Given the description of an element on the screen output the (x, y) to click on. 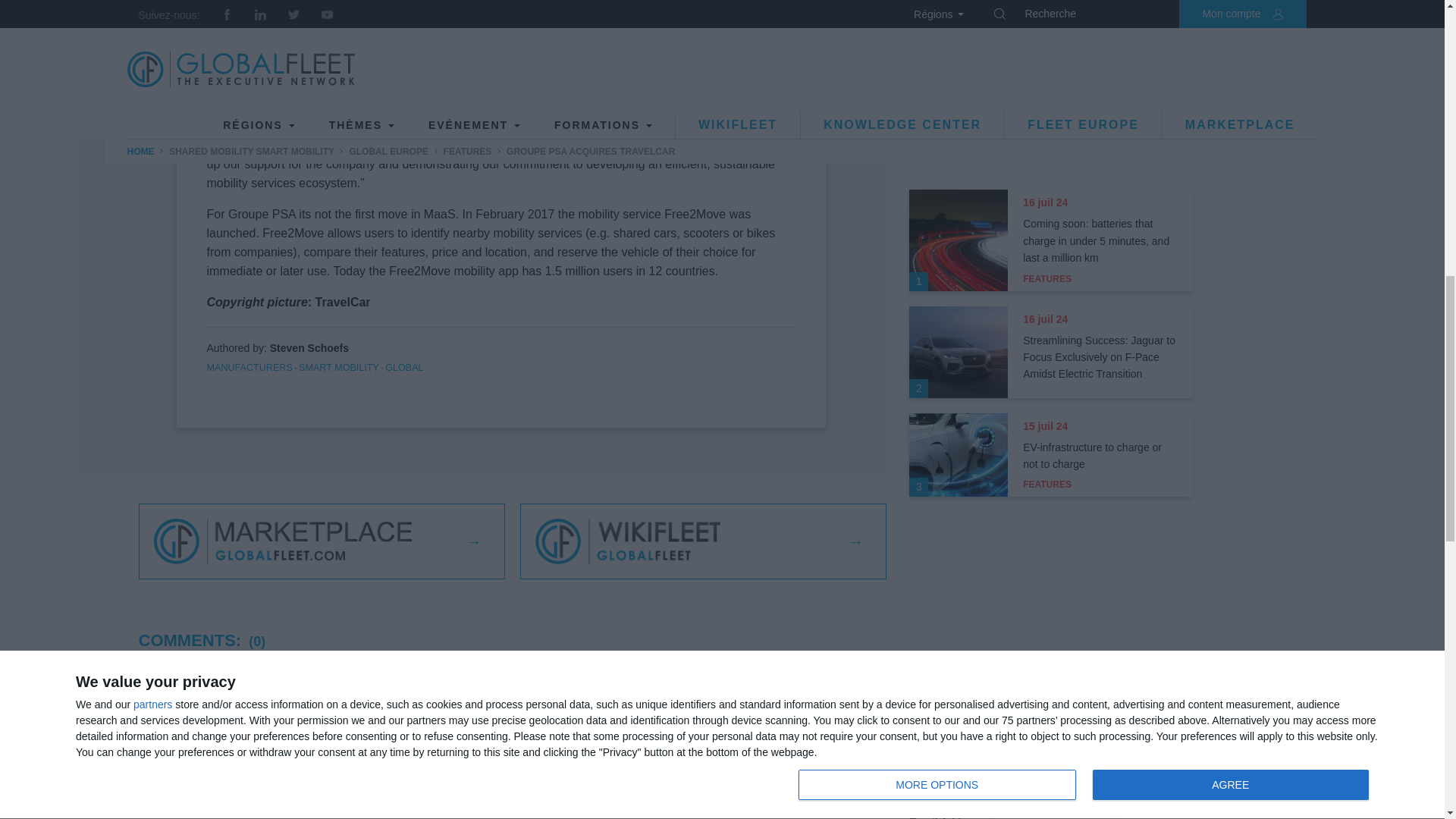
3rd party ad content (1050, 614)
3rd party ad content (1050, 63)
